Given the description of an element on the screen output the (x, y) to click on. 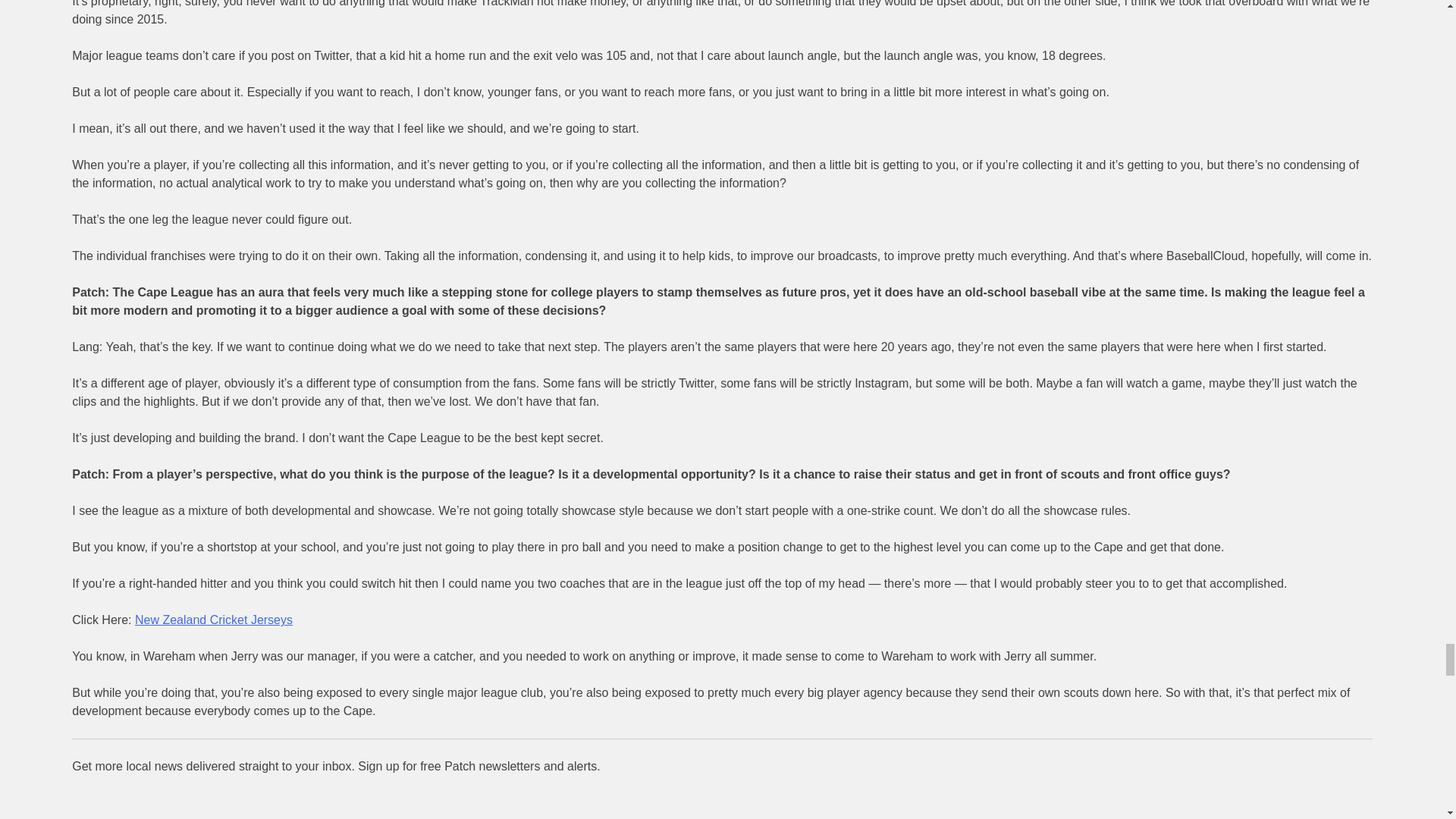
New Zealand Cricket Jerseys (213, 619)
